Given the description of an element on the screen output the (x, y) to click on. 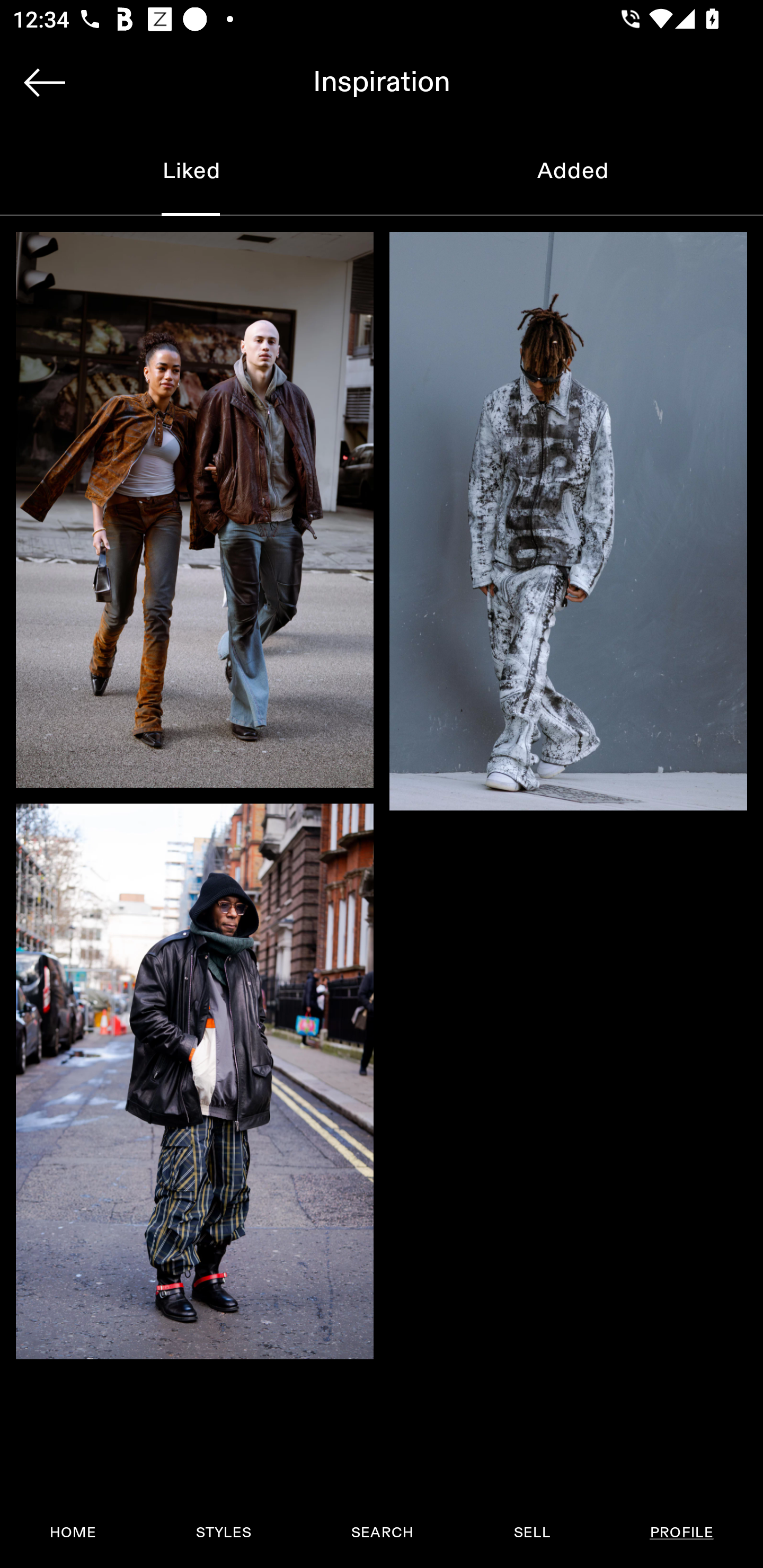
Added (572, 171)
HOME (72, 1532)
STYLES (222, 1532)
SEARCH (381, 1532)
SELL (531, 1532)
PROFILE (681, 1532)
